Given the description of an element on the screen output the (x, y) to click on. 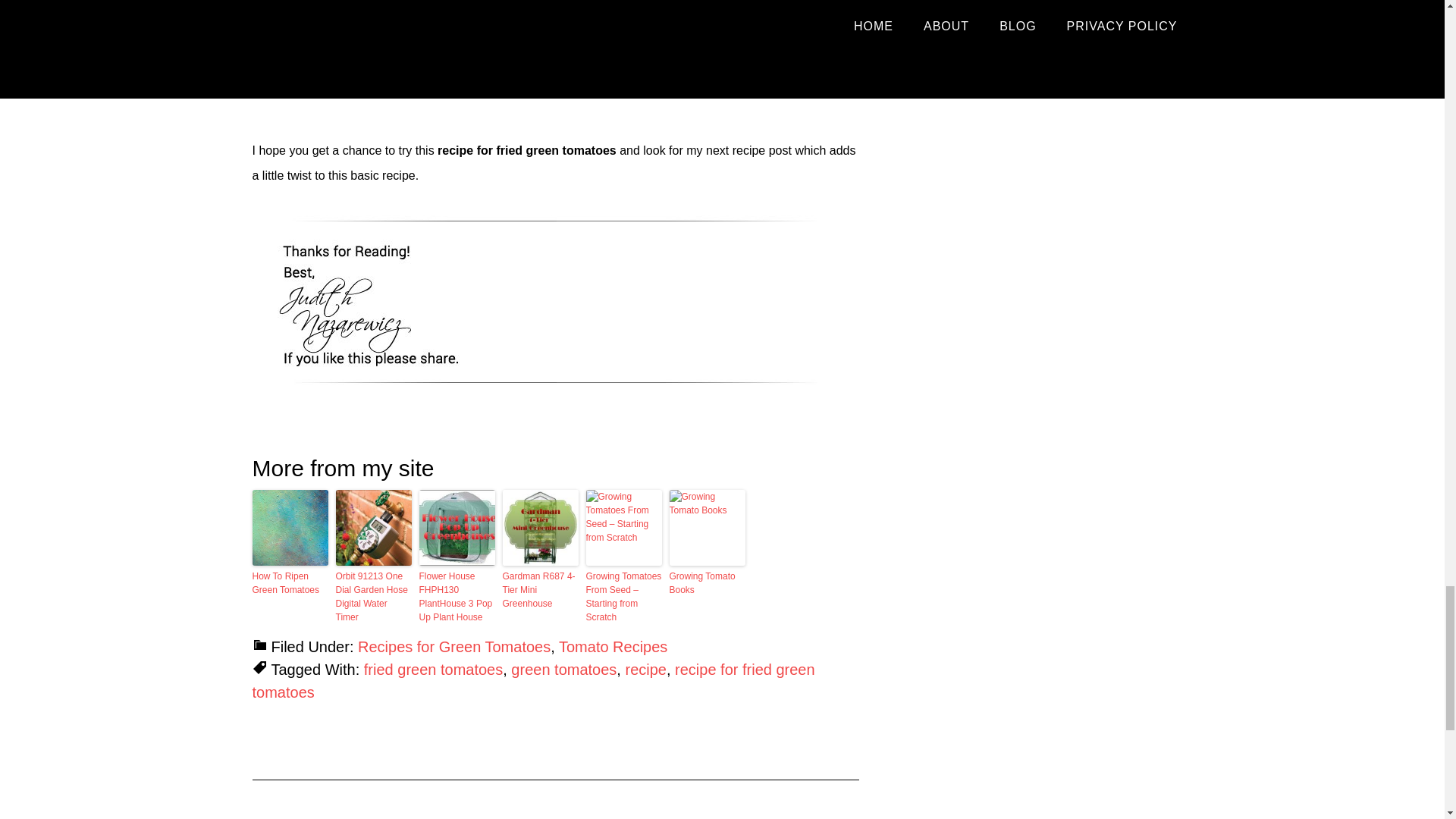
How To Ripen Green Tomatoes (289, 583)
Flower House FHPH130 PlantHouse 3 Pop Up Plant House (457, 596)
Orbit 91213 One Dial Garden Hose Digital Water Timer (372, 596)
Growing Tomato Books (706, 583)
Gardman R687 4-Tier Mini Greenhouse (540, 589)
